Given the description of an element on the screen output the (x, y) to click on. 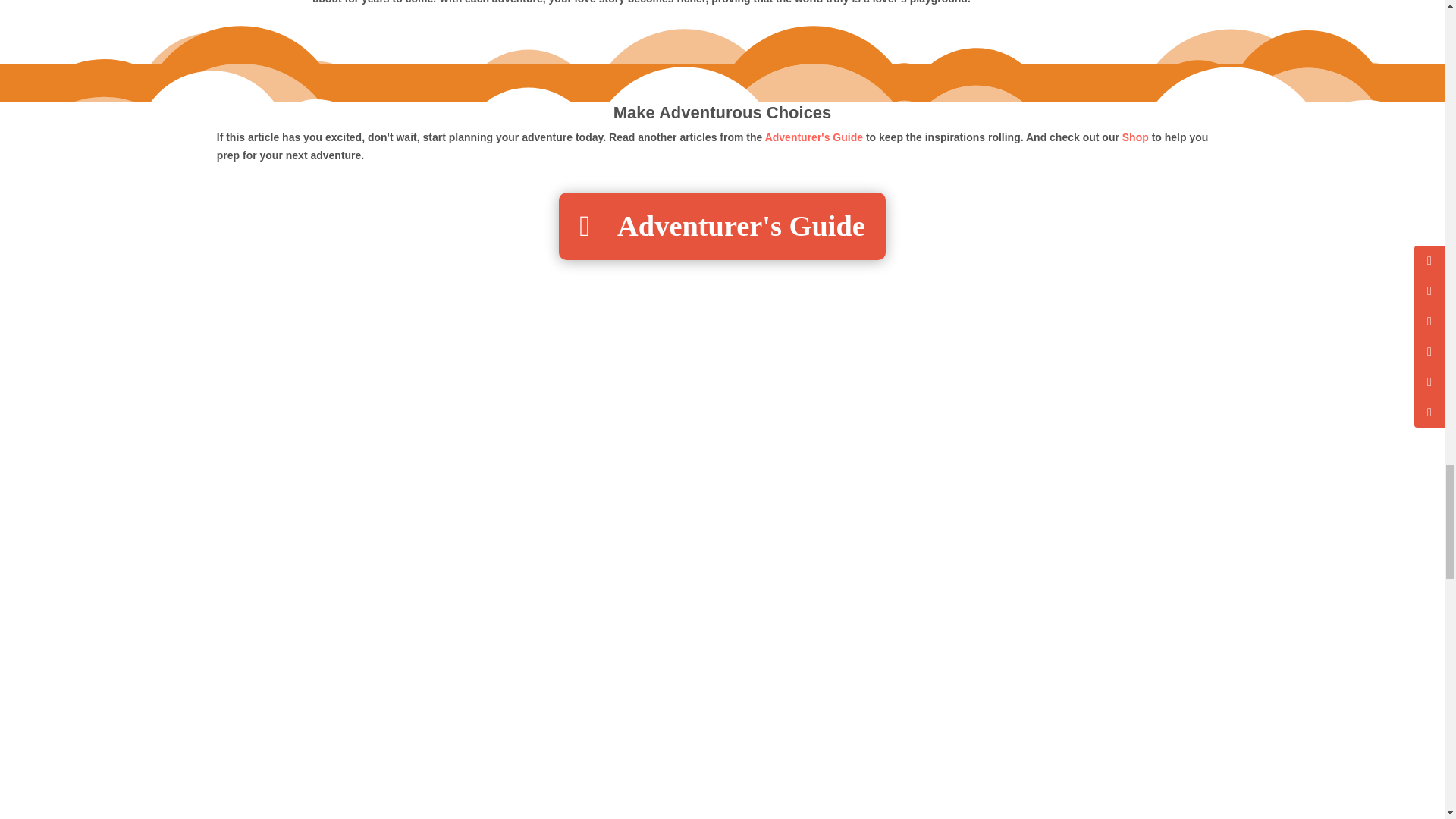
Shop (1135, 137)
Adventurer's Guide (722, 225)
Adventurer's Guide (814, 137)
